Given the description of an element on the screen output the (x, y) to click on. 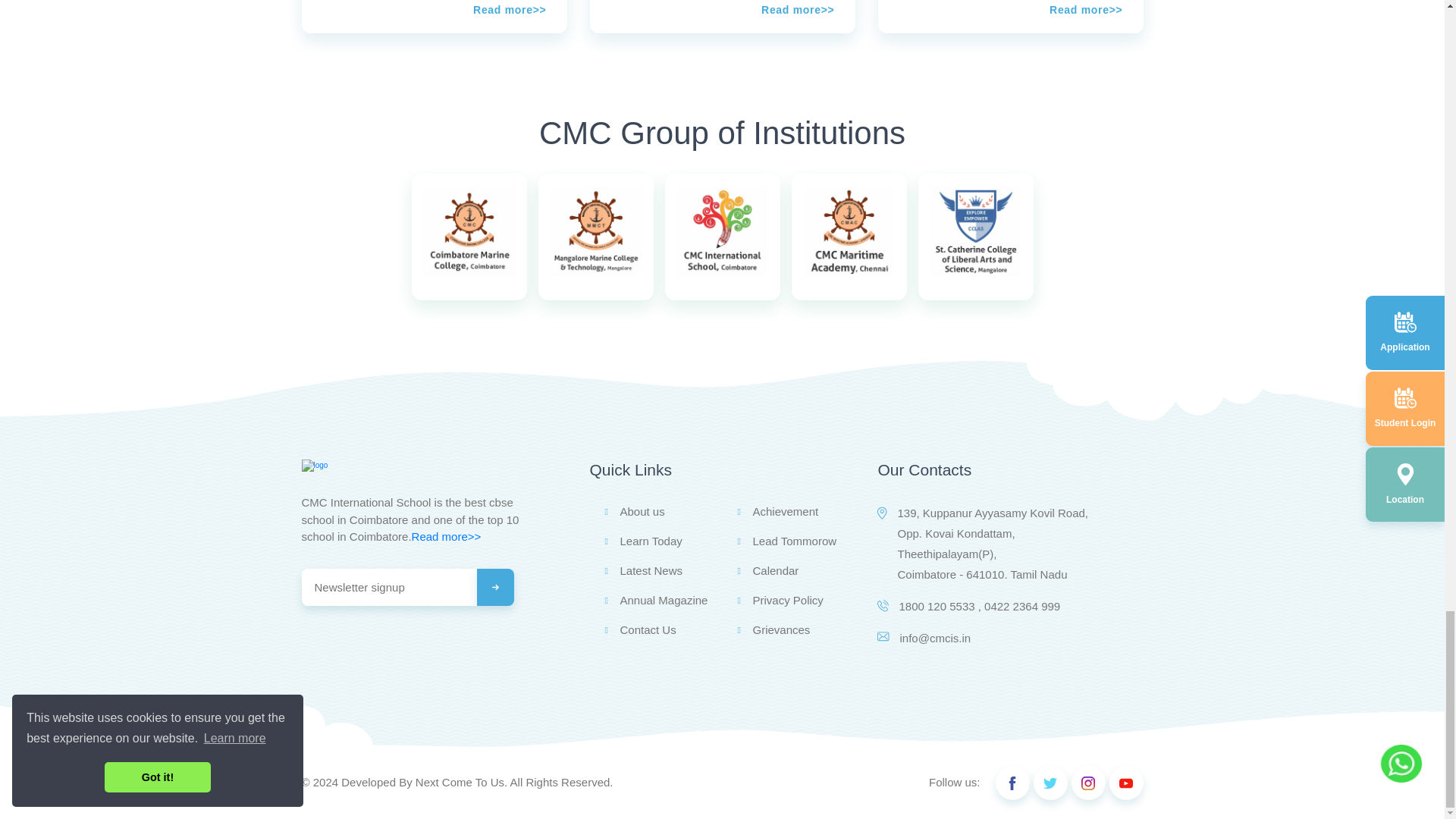
Instagram (1125, 783)
Twitter (1050, 783)
Instagram (1087, 783)
Facebook (1012, 783)
